Given the description of an element on the screen output the (x, y) to click on. 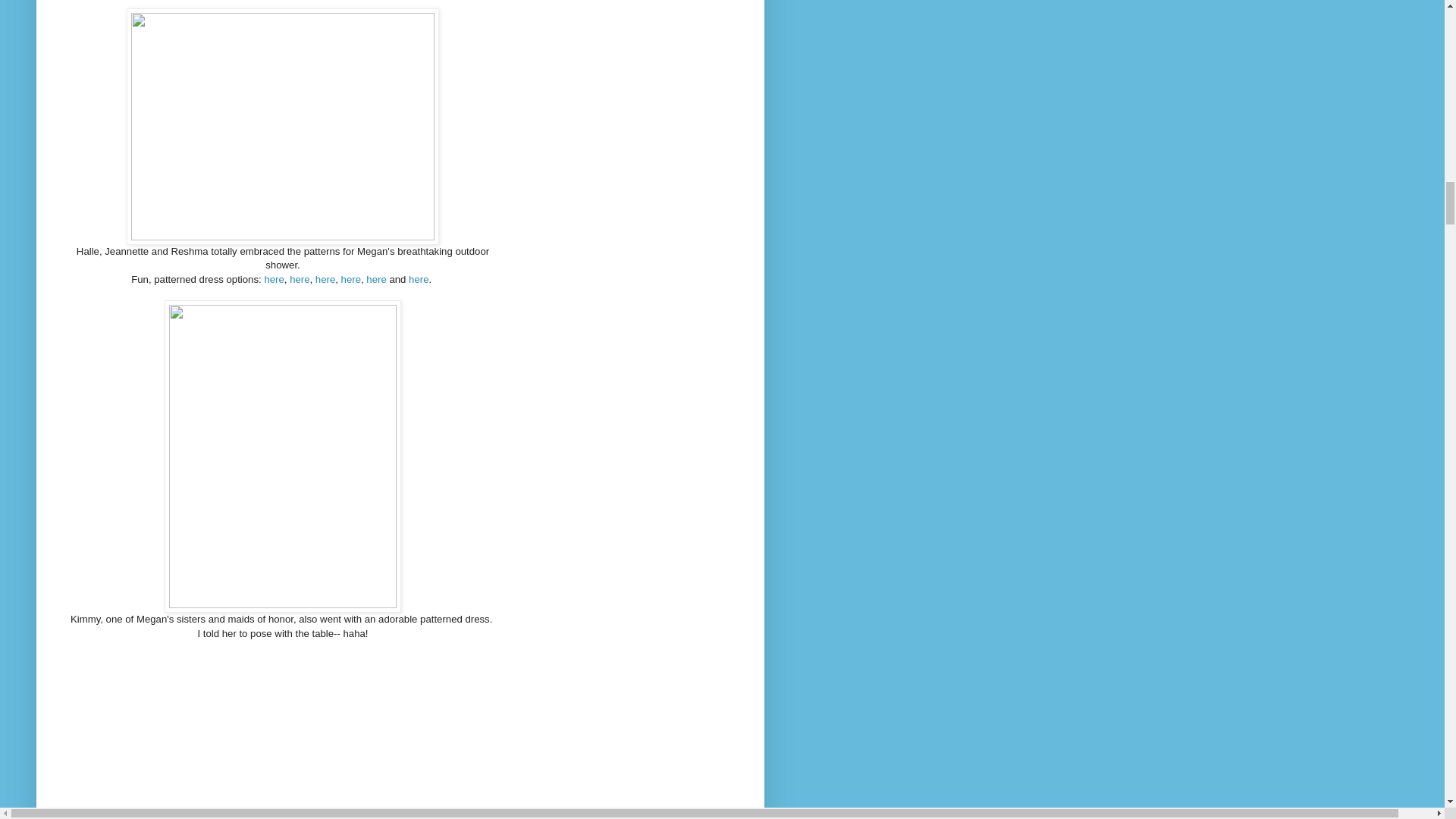
here (375, 279)
here (350, 279)
here (418, 279)
here (273, 279)
here (324, 279)
here (298, 279)
